Given the description of an element on the screen output the (x, y) to click on. 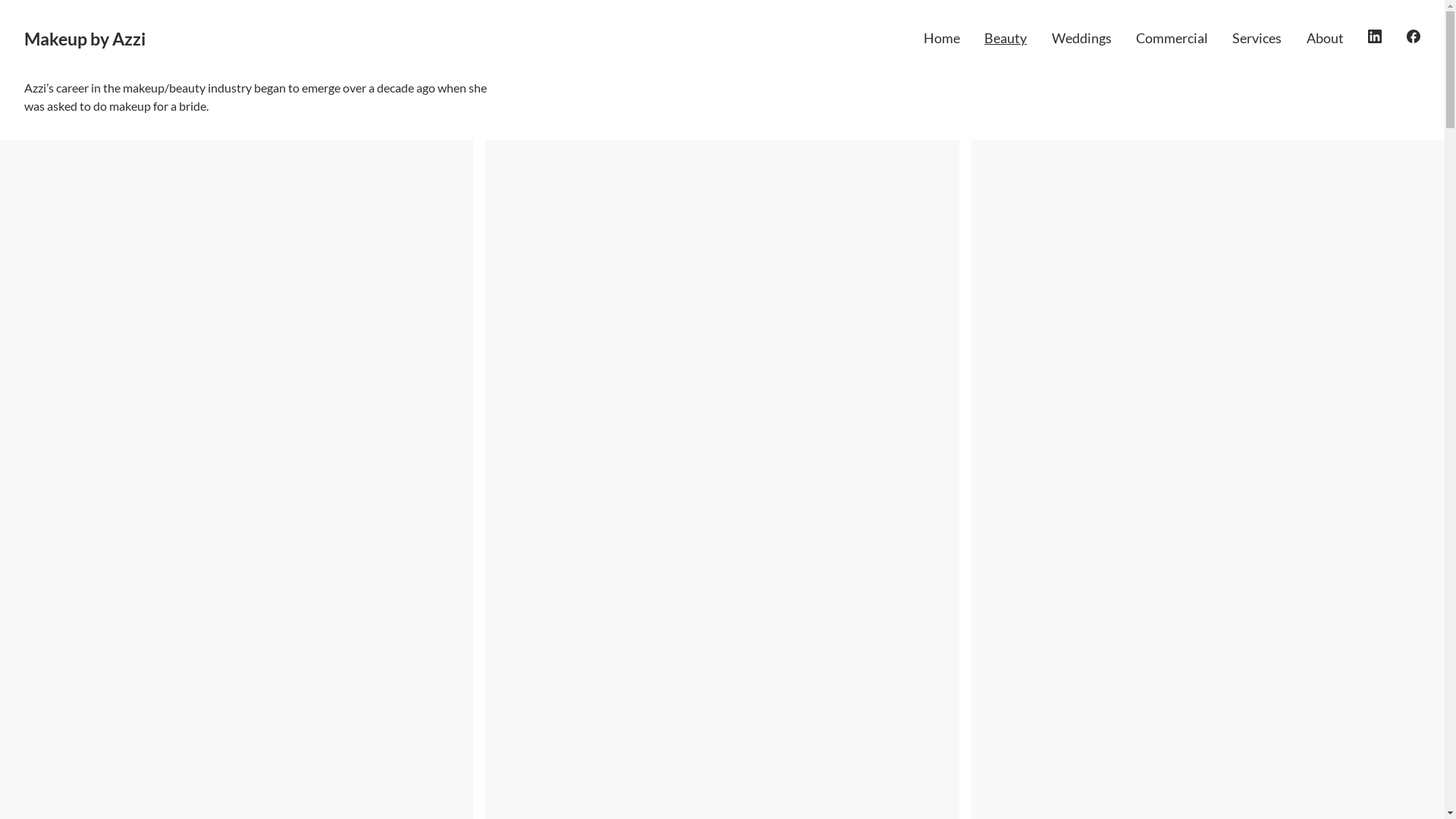
Makeup by Azzi Element type: text (84, 39)
Home Element type: text (941, 37)
About Element type: text (1324, 37)
Weddings Element type: text (1081, 37)
Commercial Element type: text (1171, 37)
Services Element type: text (1256, 37)
Beauty Element type: text (1005, 37)
